Given the description of an element on the screen output the (x, y) to click on. 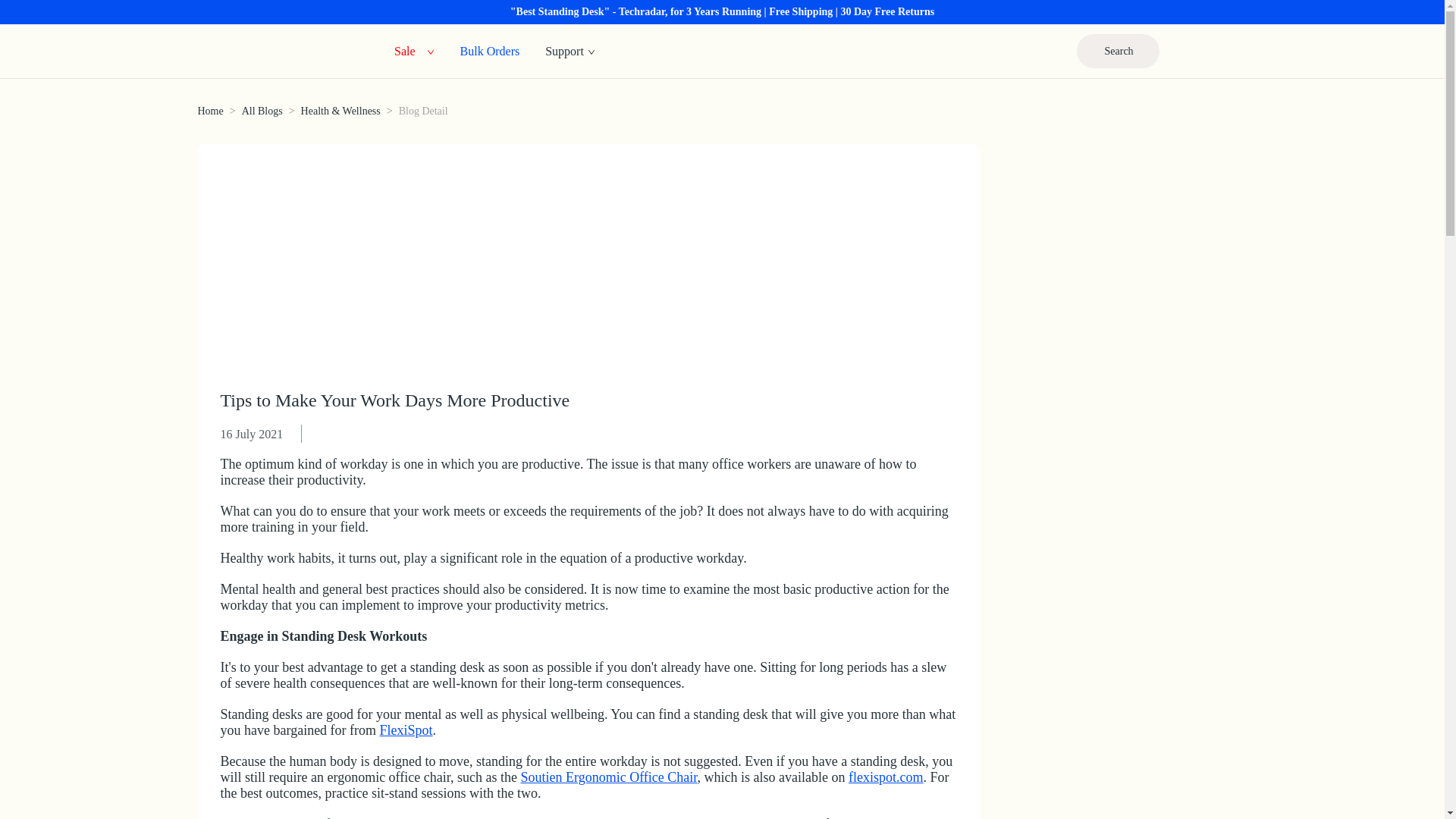
Sale (405, 50)
Bulk Orders (489, 50)
FlexiSpot (406, 729)
Home (209, 111)
Soutien Ergonomic Office Chair (608, 776)
flexispot.com (885, 776)
All Blogs (261, 111)
